Given the description of an element on the screen output the (x, y) to click on. 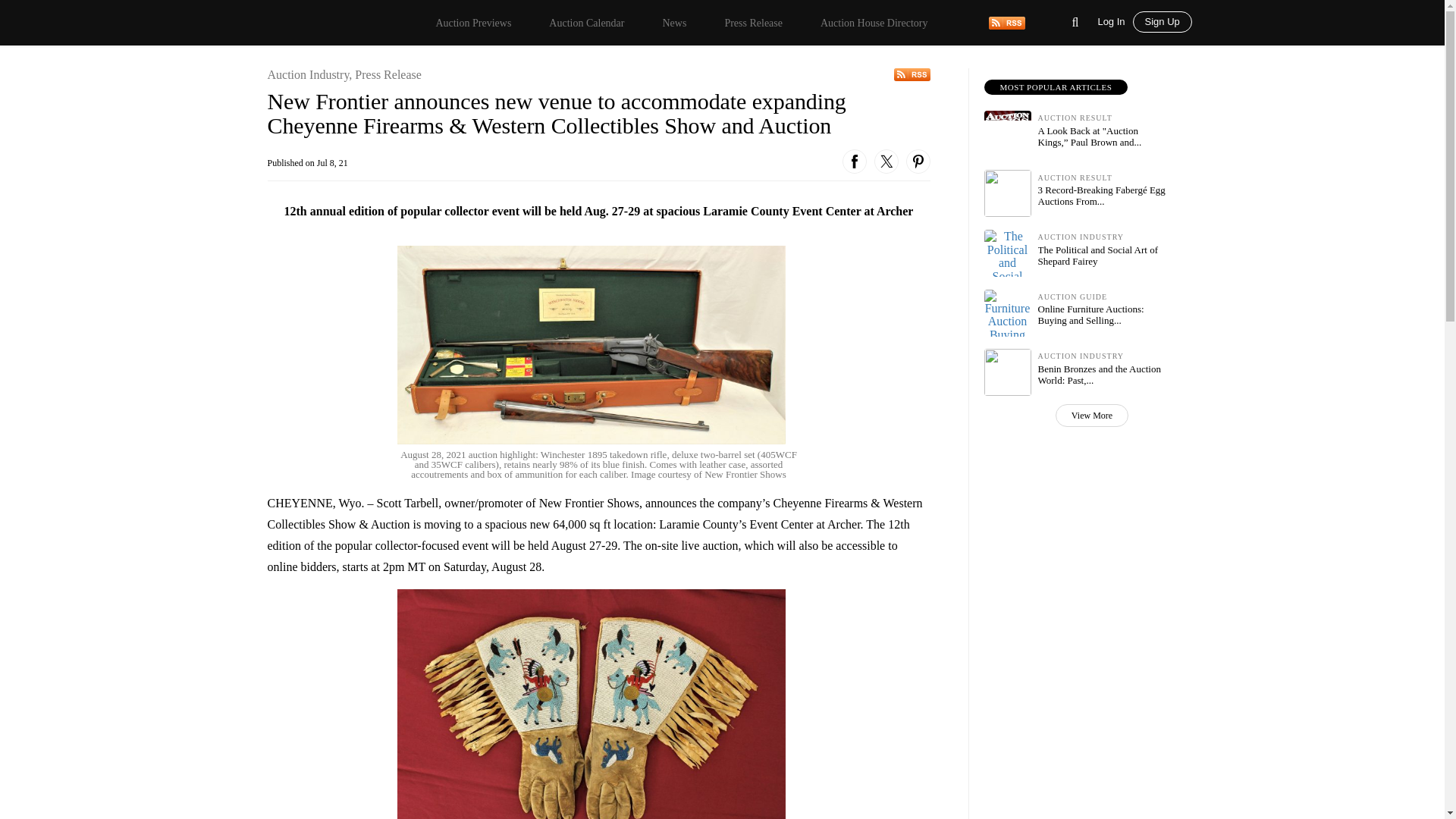
View Our News Feed (911, 74)
View Our News Feed (1006, 21)
Auction Calendar (586, 22)
Auction House Directory (874, 22)
Auction Previews (473, 22)
News (673, 22)
Sign Up (1162, 21)
Log In (1114, 20)
Press Release (753, 22)
